Given the description of an element on the screen output the (x, y) to click on. 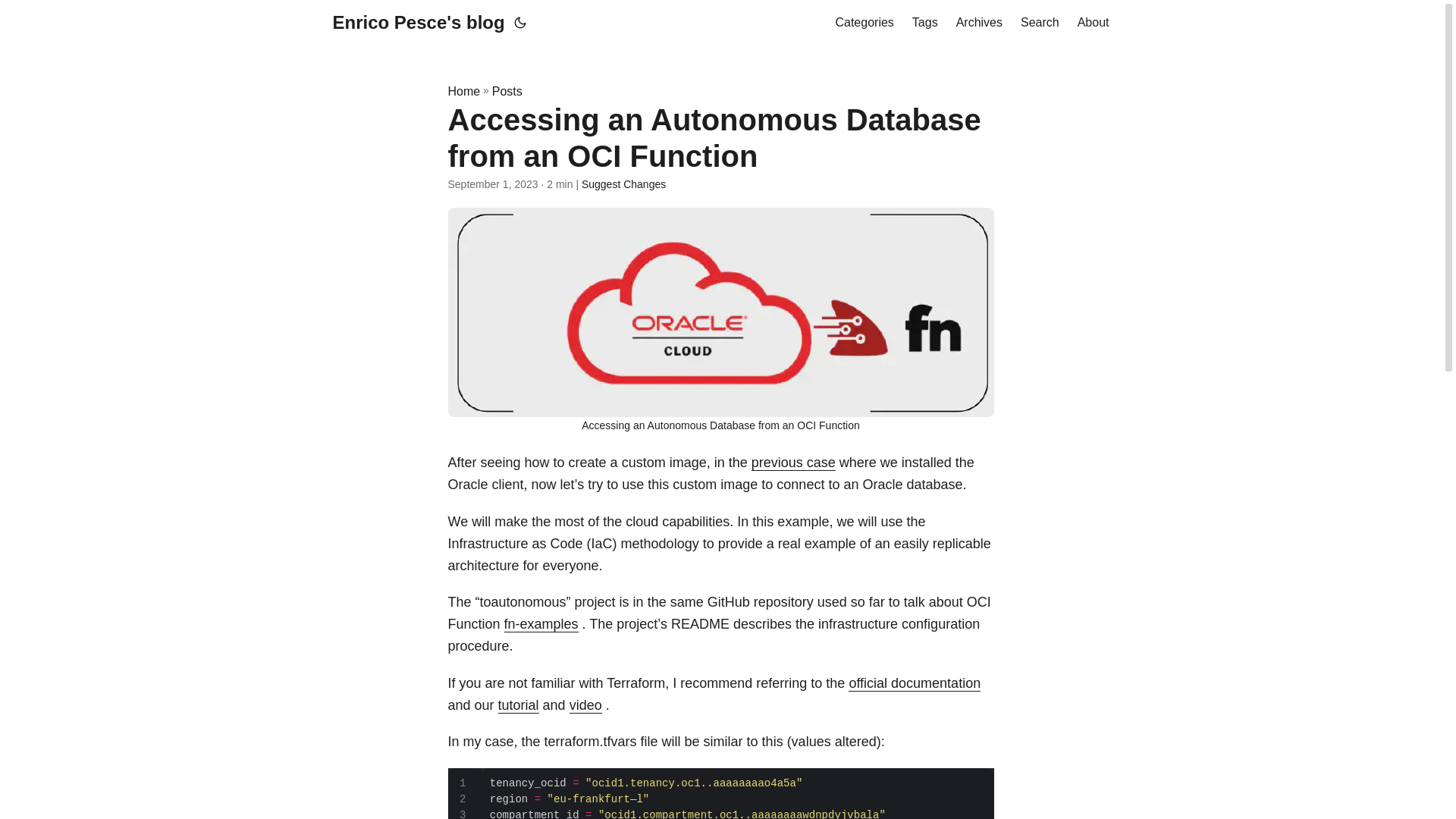
fn-examples (540, 623)
Categories (863, 22)
video (585, 704)
previous case (793, 462)
Enrico Pesce's blog (417, 22)
tutorial (517, 704)
Categories (863, 22)
Archives (979, 22)
Posts (507, 91)
Suggest Changes (622, 184)
Archives (979, 22)
Home (463, 91)
official documentation (913, 683)
